Given the description of an element on the screen output the (x, y) to click on. 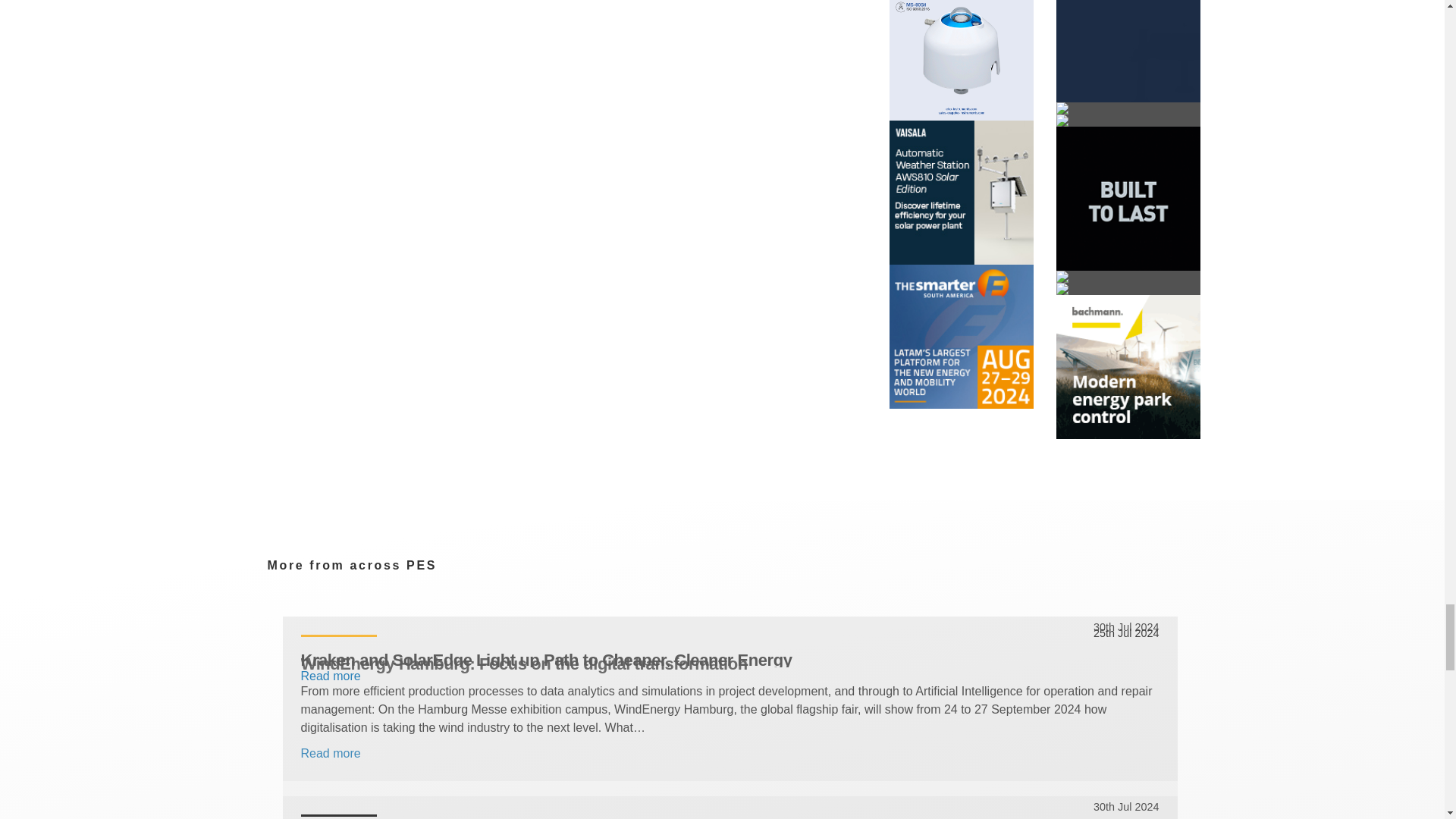
WindEnergy Hamburg: Focus on the digital transformation (728, 662)
